Given the description of an element on the screen output the (x, y) to click on. 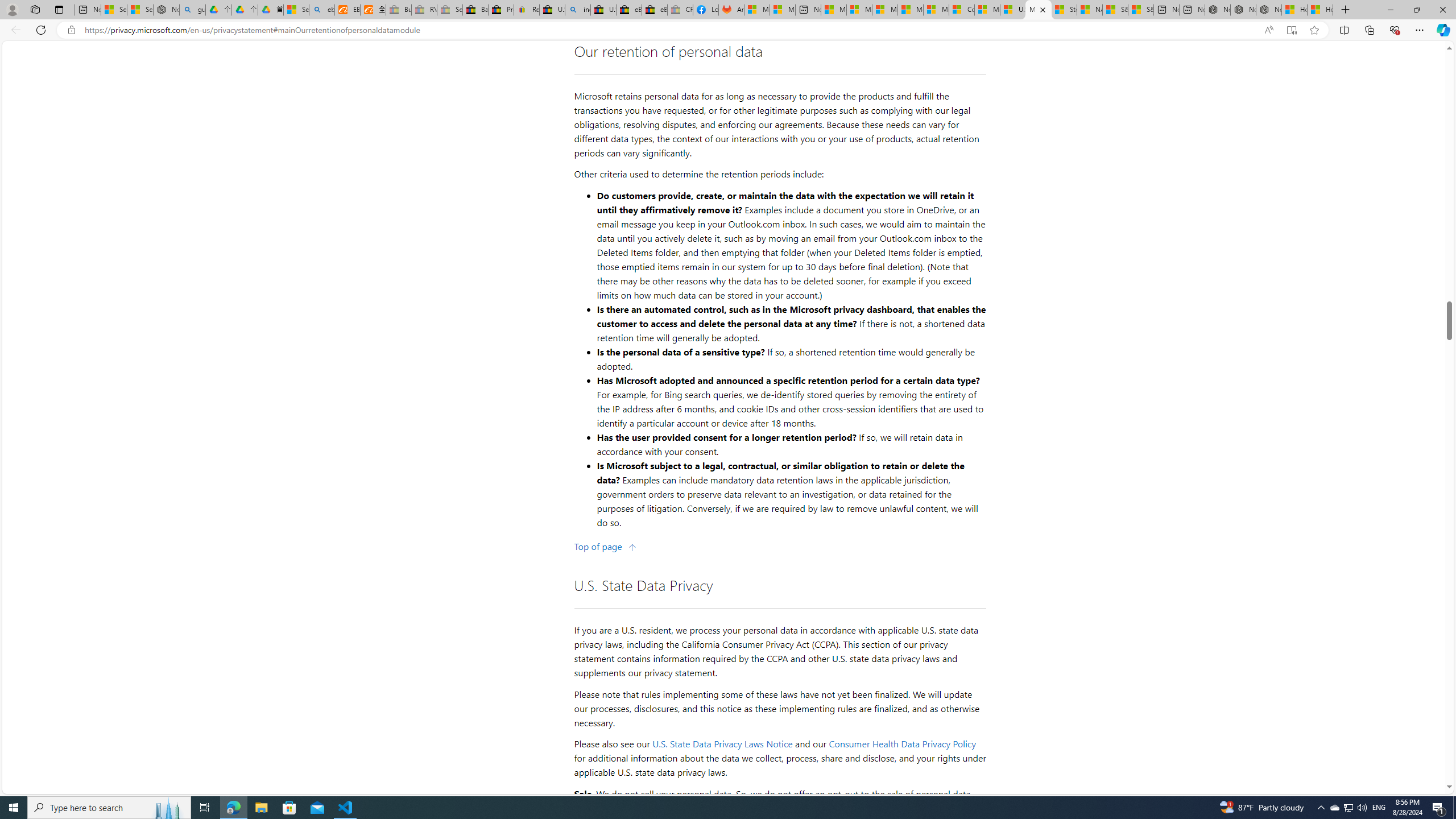
Log into Facebook (705, 9)
Sell worldwide with eBay - Sleeping (449, 9)
eBay Inc. Reports Third Quarter 2023 Results (654, 9)
Enter Immersive Reader (F9) (1291, 29)
